Given the description of an element on the screen output the (x, y) to click on. 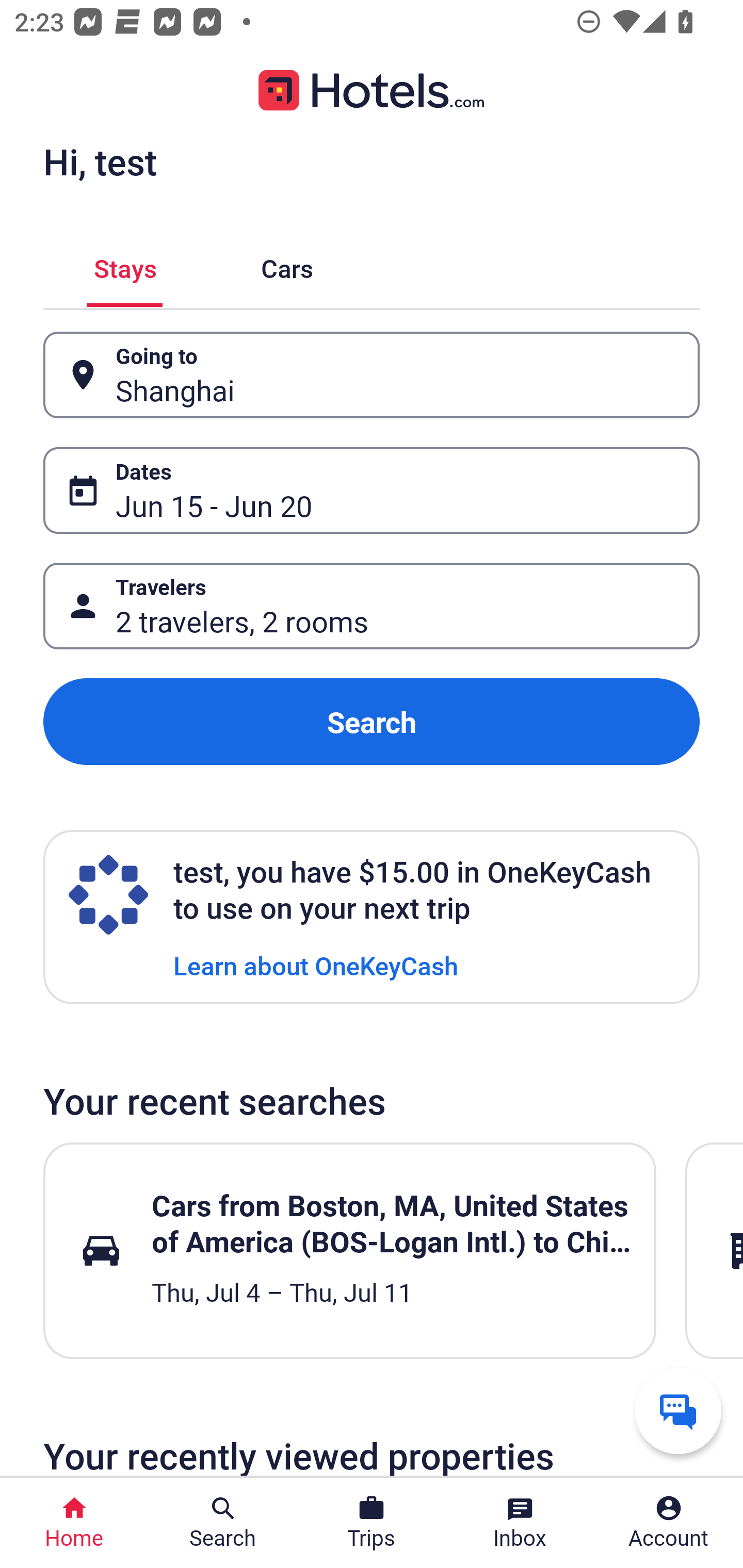
Hi, test (99, 161)
Cars (286, 265)
Going to Button Shanghai (371, 375)
Dates Button Jun 15 - Jun 20 (371, 489)
Travelers Button 2 travelers, 2 rooms (371, 605)
Search (371, 721)
Learn about OneKeyCash Learn about OneKeyCash Link (315, 964)
Get help from a virtual agent (677, 1410)
Search Search Button (222, 1522)
Trips Trips Button (371, 1522)
Inbox Inbox Button (519, 1522)
Account Profile. Button (668, 1522)
